Given the description of an element on the screen output the (x, y) to click on. 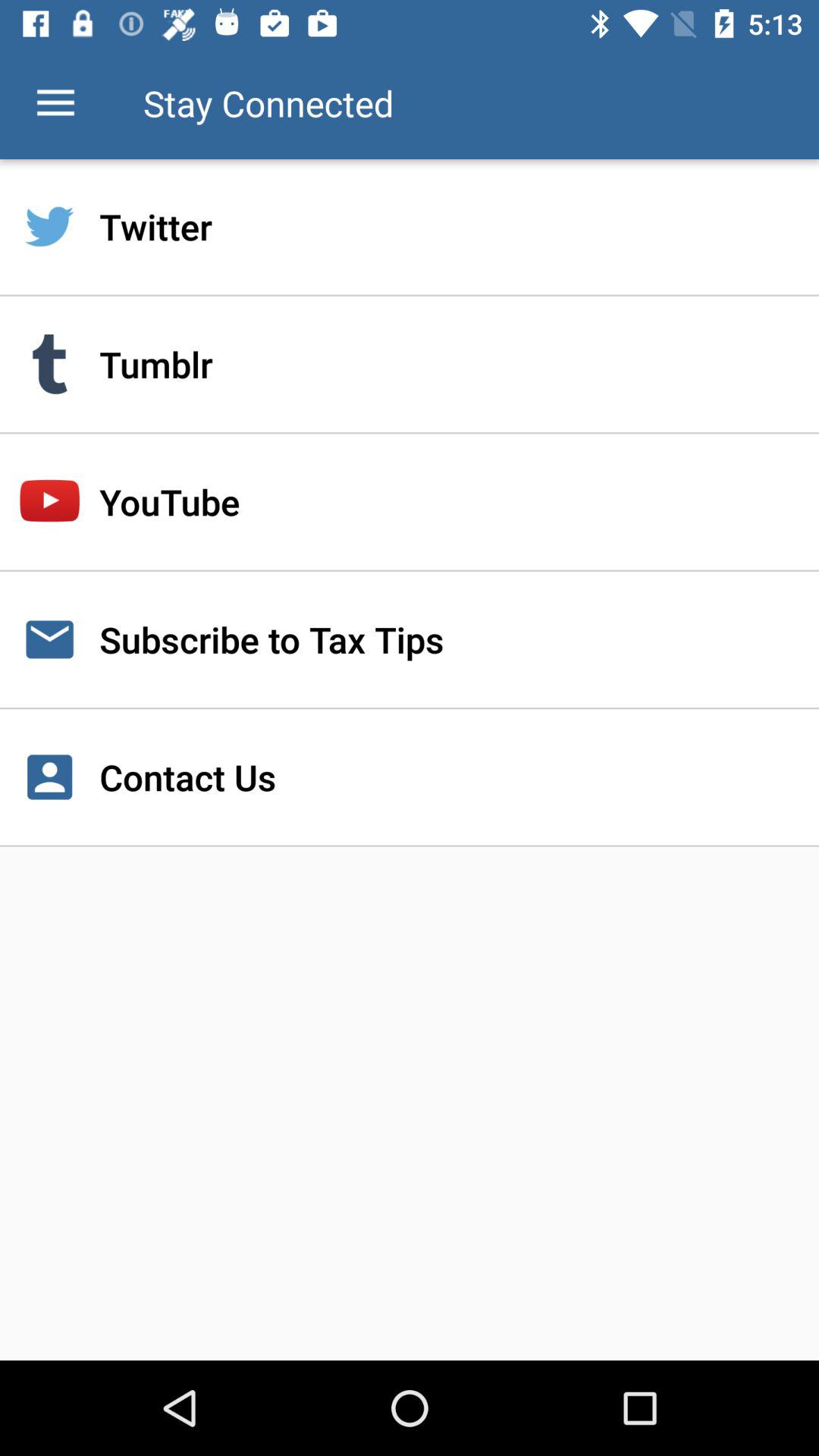
press youtube icon (409, 501)
